Given the description of an element on the screen output the (x, y) to click on. 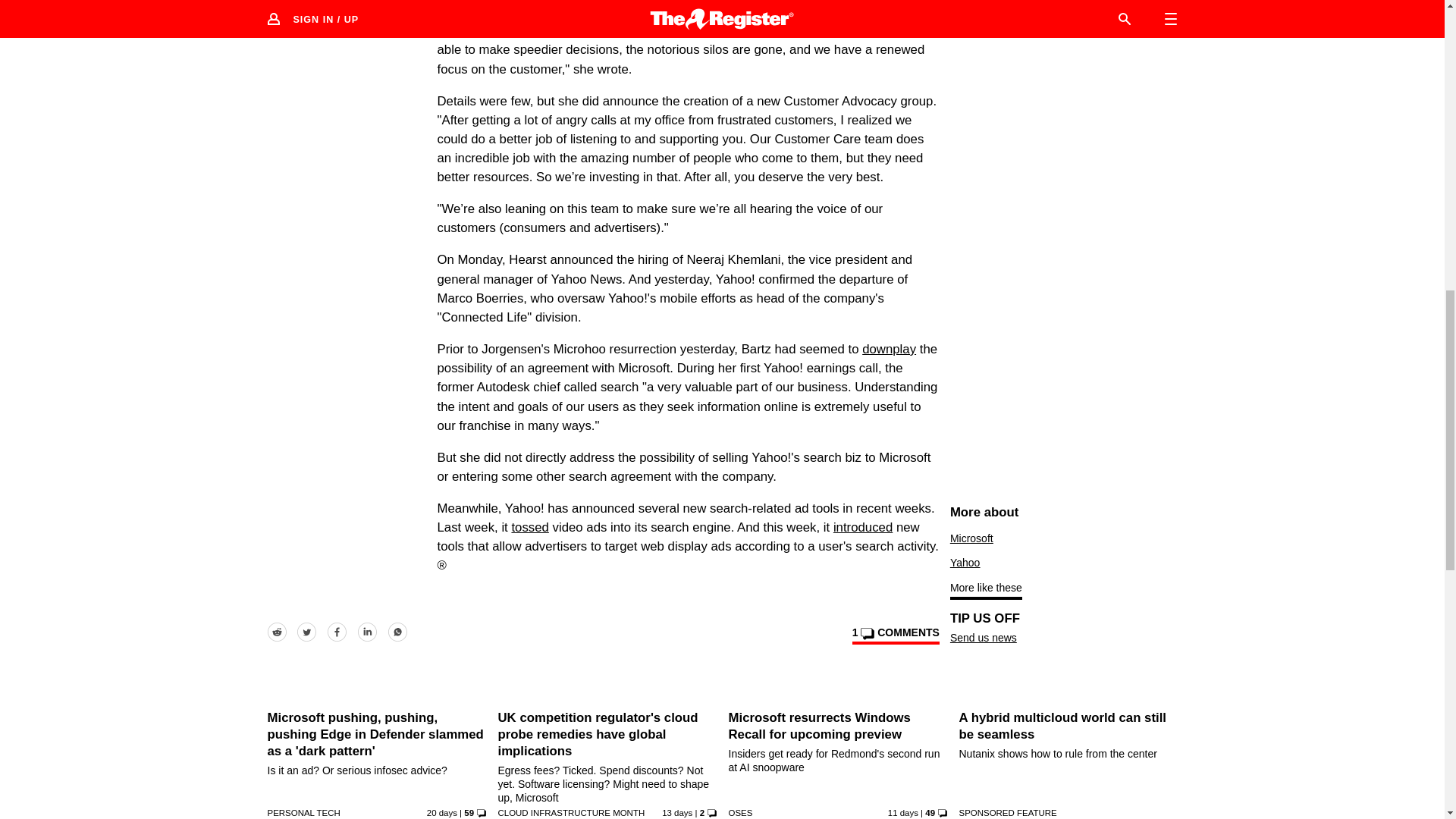
22 Aug 2024 11:36 (903, 812)
21 Aug 2024 8:30 (677, 812)
View comments on this article (895, 635)
14 Aug 2024 7:30 (441, 812)
